Given the description of an element on the screen output the (x, y) to click on. 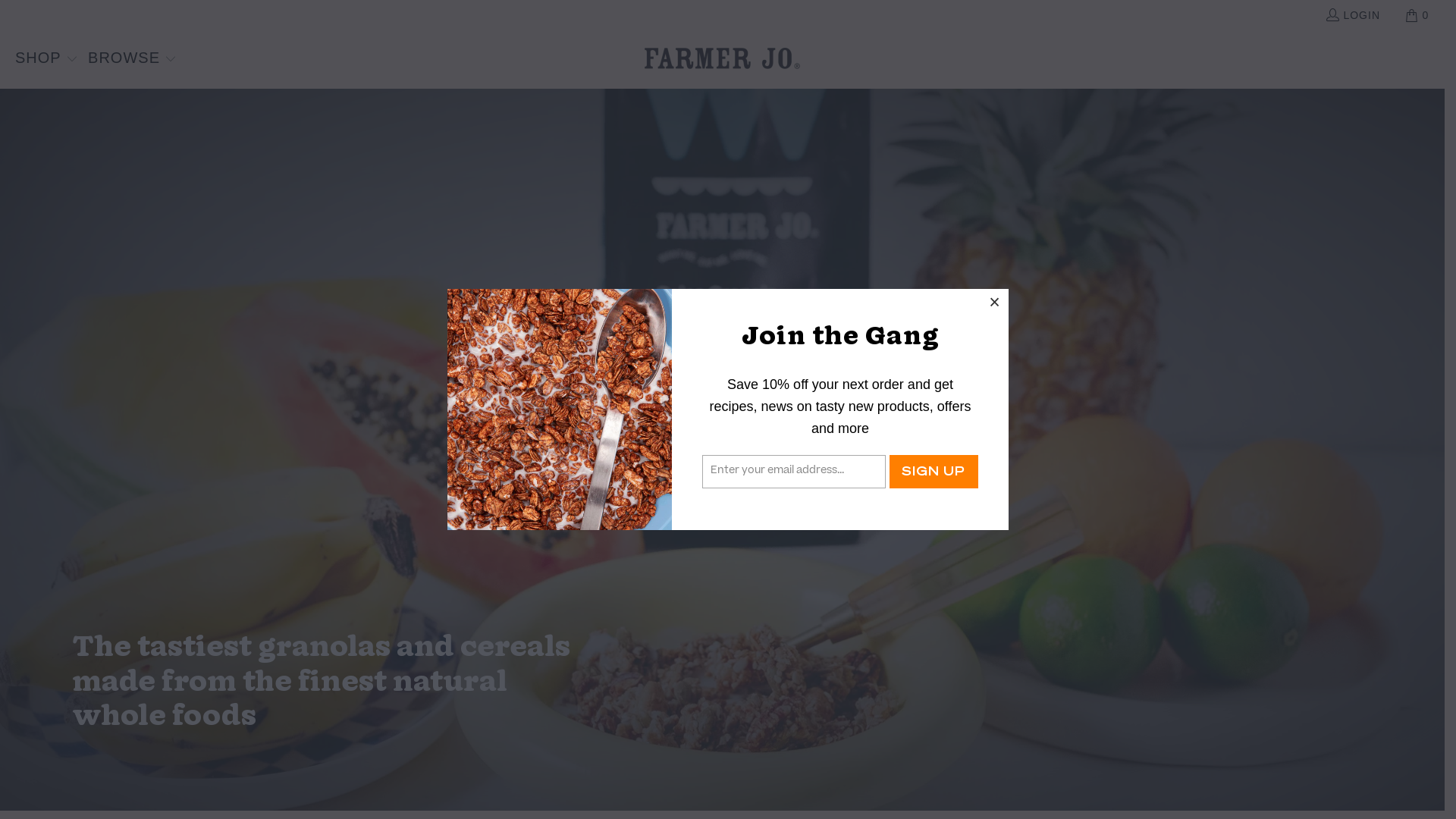
0 Element type: text (1417, 15)
Close Element type: hover (994, 302)
LOGIN Element type: text (1352, 15)
Sign Up Element type: text (933, 471)
FarmerJo Element type: hover (722, 59)
